Given the description of an element on the screen output the (x, y) to click on. 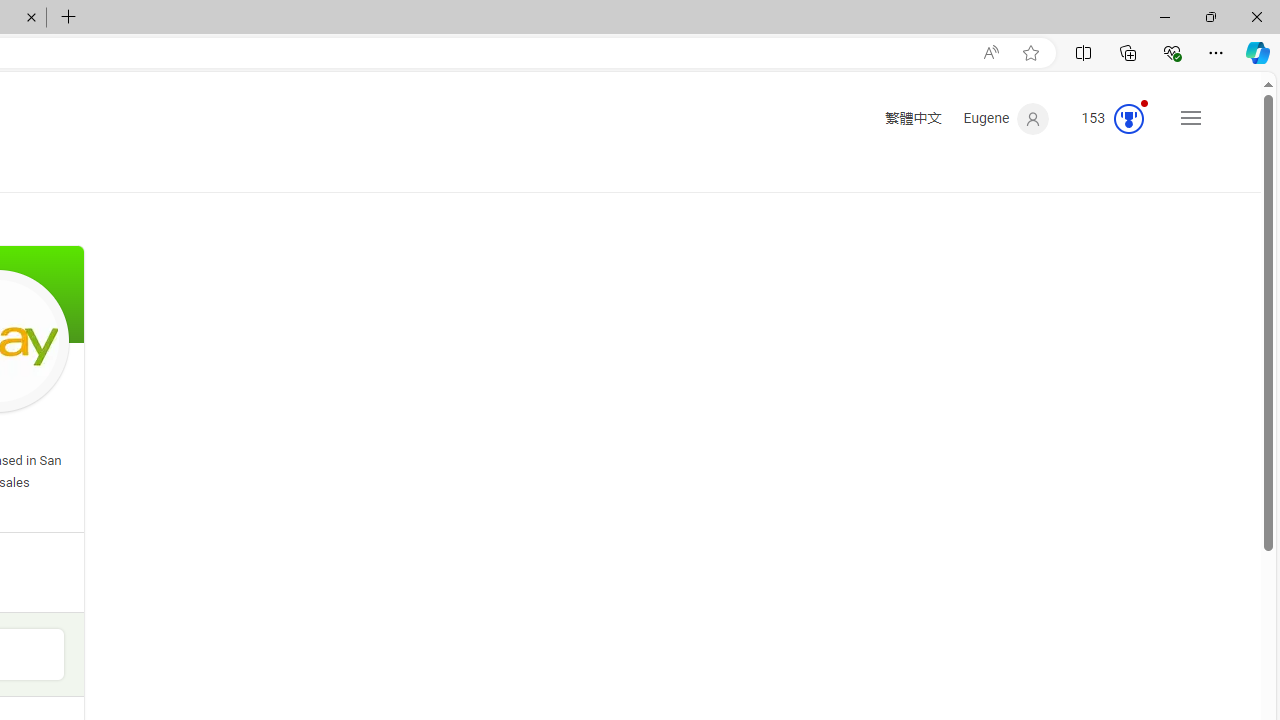
Class: medal-circled (1129, 118)
Settings and quick links (1190, 117)
Microsoft Rewards 153 (1105, 119)
Eugene (1005, 119)
